Given the description of an element on the screen output the (x, y) to click on. 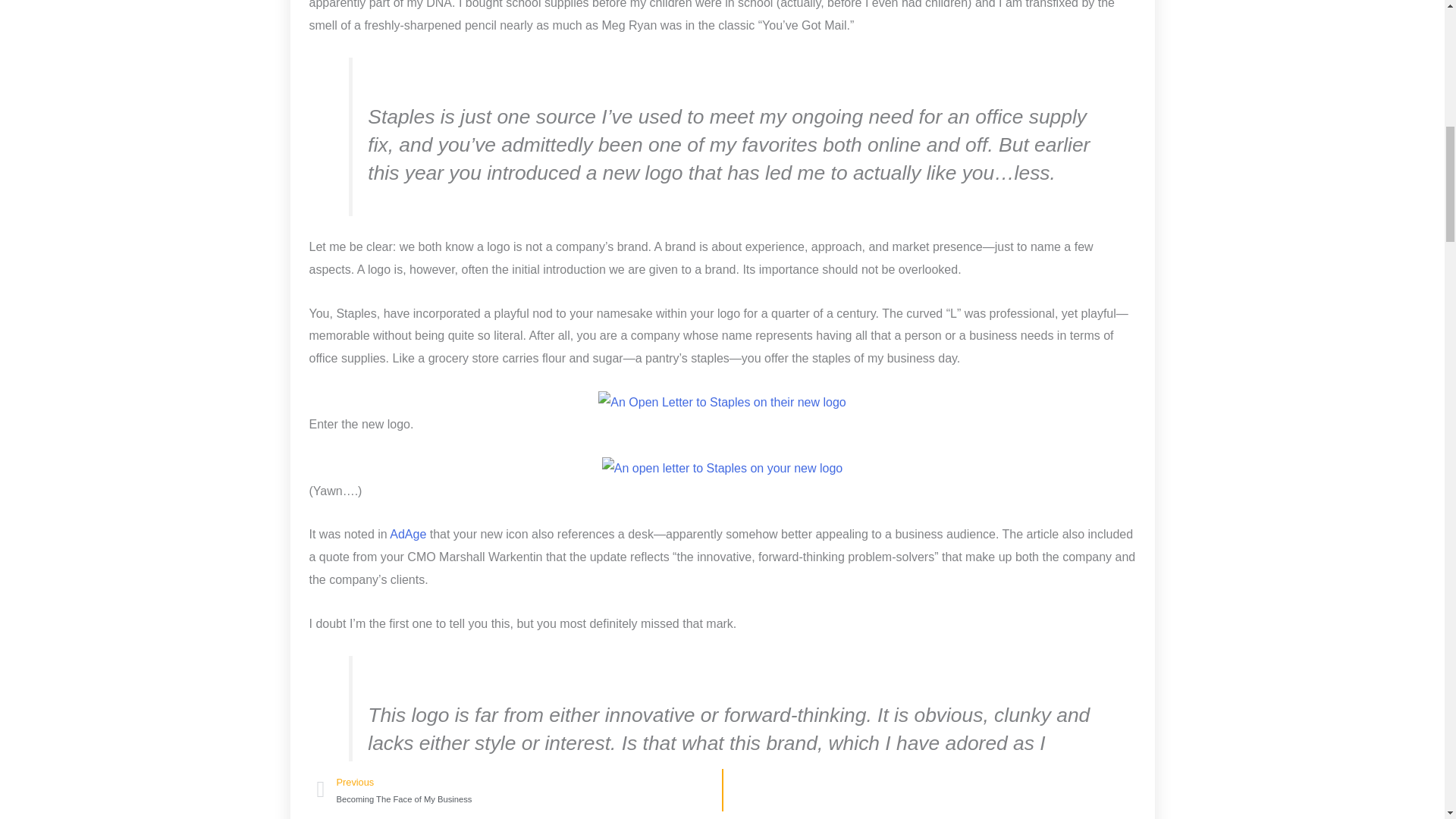
AdAge (408, 533)
